Given the description of an element on the screen output the (x, y) to click on. 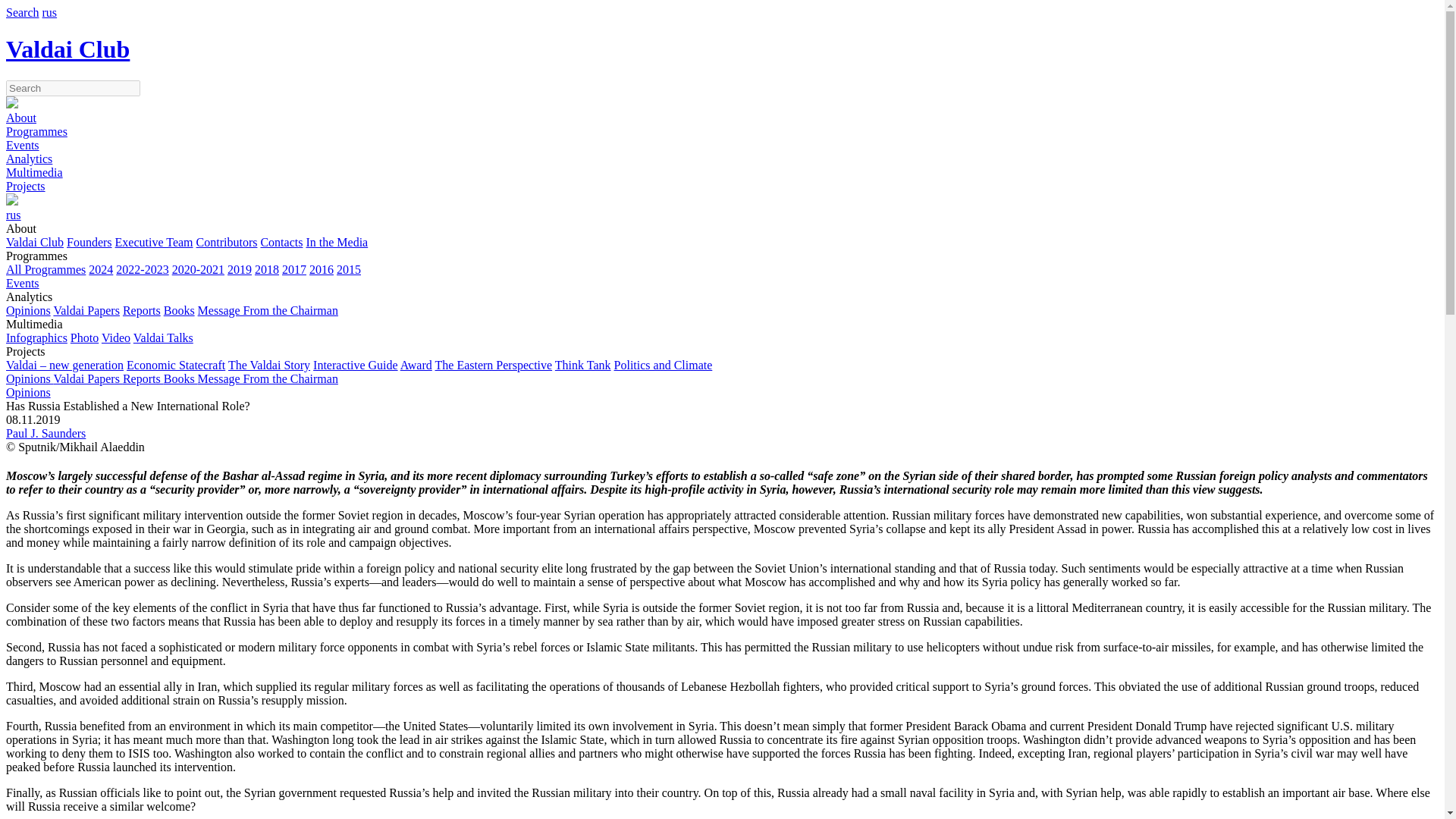
2022-2023 (142, 269)
Books (179, 309)
Valdai Papers (85, 309)
Reports (141, 309)
rus (50, 11)
In the Media (336, 241)
Message From the Chairman (267, 309)
2020-2021 (197, 269)
All Programmes (45, 269)
Opinions (27, 309)
2024 (100, 269)
2017 (293, 269)
2019 (239, 269)
Executive Team (154, 241)
2016 (320, 269)
